Given the description of an element on the screen output the (x, y) to click on. 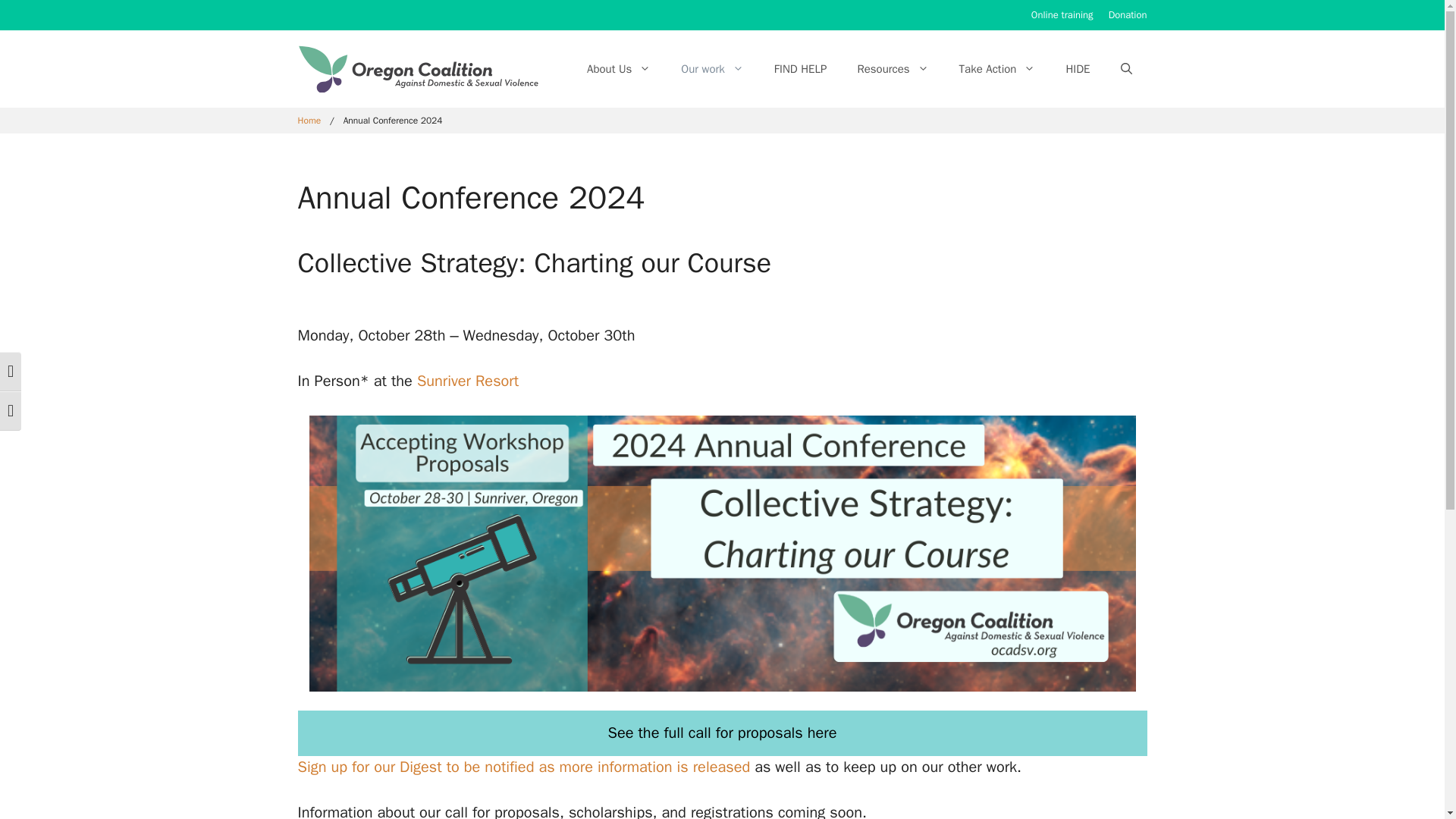
Toggle High Contrast (10, 371)
Donation (1127, 14)
Our work (711, 68)
Toggle Font size (10, 410)
Online training (1061, 14)
About Us (618, 68)
